Given the description of an element on the screen output the (x, y) to click on. 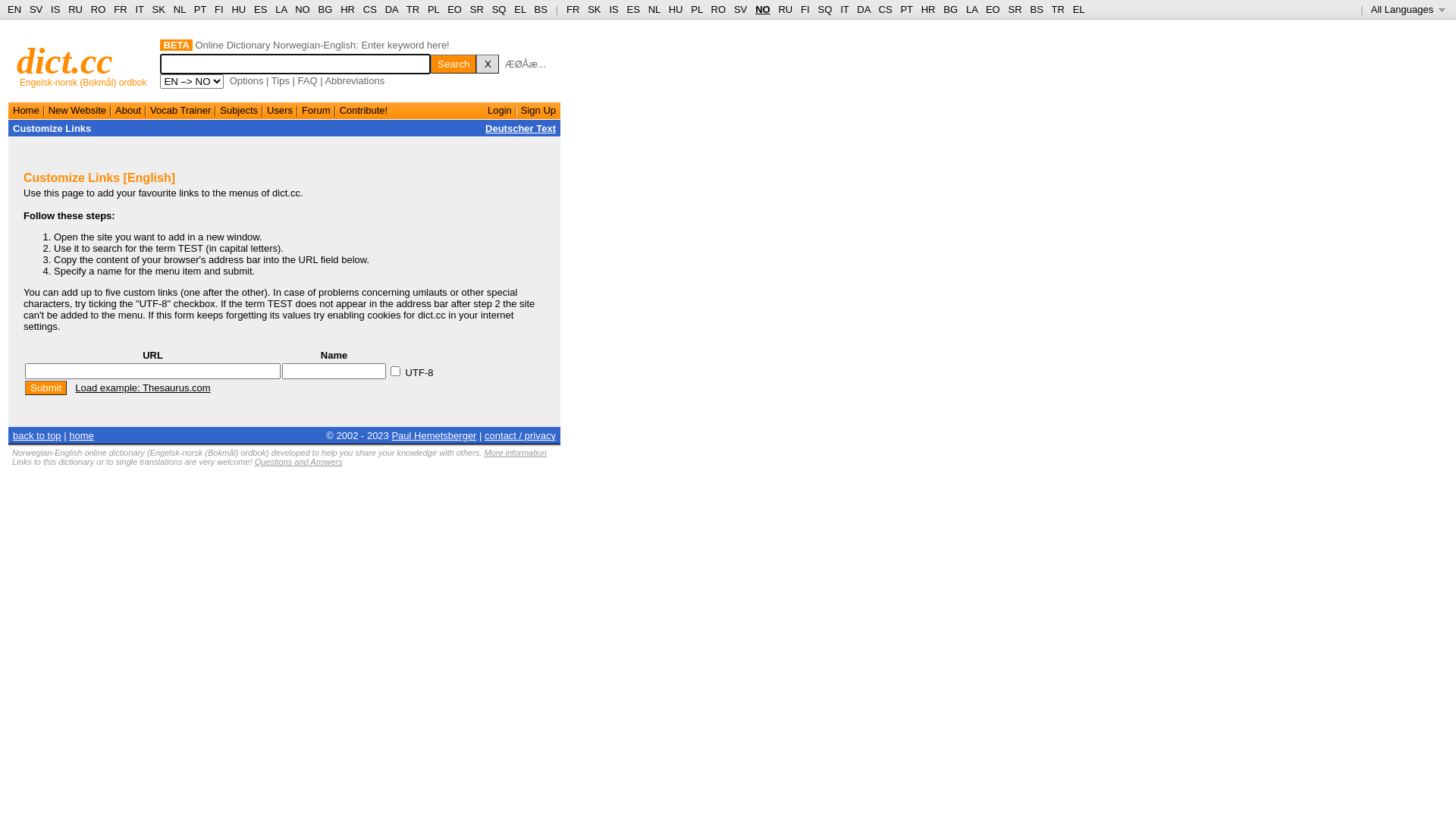
IS Element type: text (54, 9)
Forum Element type: text (315, 110)
SV Element type: text (740, 9)
CS Element type: text (369, 9)
Tips Element type: text (280, 80)
CS Element type: text (884, 9)
IT Element type: text (844, 9)
ES Element type: text (260, 9)
FAQ Element type: text (307, 80)
FR Element type: text (119, 9)
Abbreviations Element type: text (354, 80)
Subjects Element type: text (238, 110)
NL Element type: text (179, 9)
NO Element type: text (762, 9)
dict.cc Element type: text (64, 60)
SK Element type: text (158, 9)
LA Element type: text (971, 9)
HU Element type: text (238, 9)
DA Element type: text (862, 9)
EL Element type: text (519, 9)
contact / privacy Element type: text (519, 434)
SQ Element type: text (499, 9)
Paul Hemetsberger Element type: text (433, 434)
EO Element type: text (454, 9)
SR Element type: text (1015, 9)
FR Element type: text (572, 9)
TR Element type: text (412, 9)
ES Element type: text (633, 9)
IT Element type: text (138, 9)
PL Element type: text (433, 9)
back to top Element type: text (36, 434)
FI Element type: text (218, 9)
RO Element type: text (718, 9)
New Website Element type: text (77, 110)
SR Element type: text (476, 9)
PT Element type: text (906, 9)
home Element type: text (81, 434)
EO Element type: text (992, 9)
SQ Element type: text (824, 9)
HR Element type: text (347, 9)
EN Element type: text (14, 9)
NO Element type: text (302, 9)
NL Element type: text (654, 9)
HR Element type: text (928, 9)
TR Element type: text (1057, 9)
BS Element type: text (540, 9)
About Element type: text (128, 110)
BS Element type: text (1035, 9)
BG Element type: text (325, 9)
Contribute! Element type: text (363, 110)
Deutscher Text Element type: text (520, 128)
Questions and Answers Element type: text (298, 461)
Users Element type: text (279, 110)
Options Element type: text (246, 80)
X Element type: text (487, 63)
Submit Element type: text (45, 387)
RU Element type: text (785, 9)
More information Element type: text (514, 452)
Search Element type: text (453, 63)
HU Element type: text (675, 9)
Vocab Trainer Element type: text (180, 110)
Home Element type: text (25, 110)
PL Element type: text (696, 9)
Sign Up Element type: text (537, 110)
RO Element type: text (98, 9)
IS Element type: text (613, 9)
EL Element type: text (1079, 9)
Login Element type: text (499, 110)
BG Element type: text (950, 9)
RU Element type: text (75, 9)
PT Element type: text (200, 9)
LA Element type: text (280, 9)
Load example: Thesaurus.com Element type: text (142, 387)
All Languages  Element type: text (1408, 9)
SK Element type: text (593, 9)
FI Element type: text (804, 9)
SV Element type: text (35, 9)
DA Element type: text (391, 9)
